Given the description of an element on the screen output the (x, y) to click on. 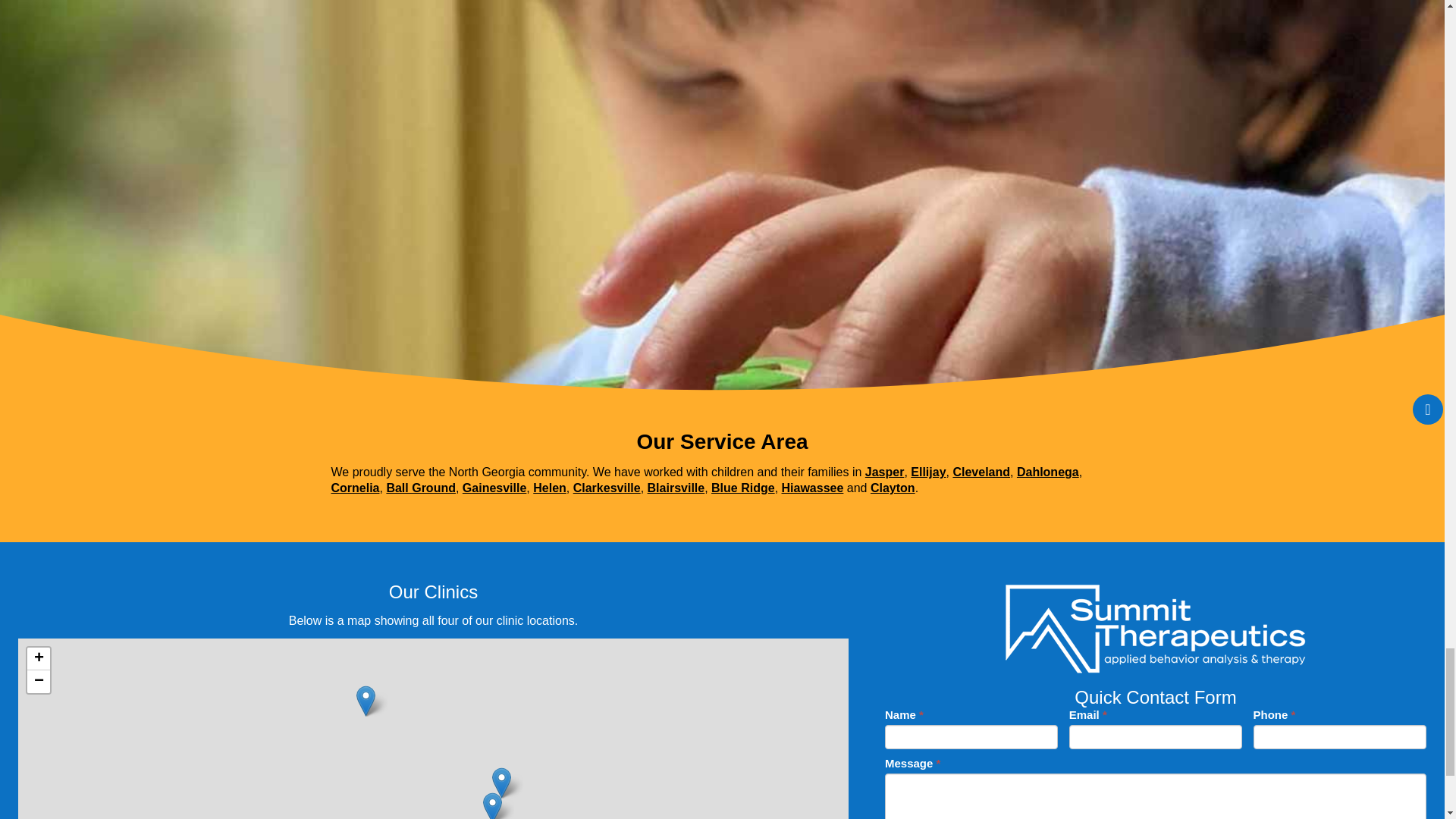
Blue Ridge (742, 487)
Footer-Logo (1155, 627)
Helen (549, 487)
Dahlonega (1047, 472)
Jasper (884, 472)
Ellijay (927, 472)
Gainesville (495, 487)
Cornelia (354, 487)
Hiawassee (812, 487)
Clayton (892, 487)
